Given the description of an element on the screen output the (x, y) to click on. 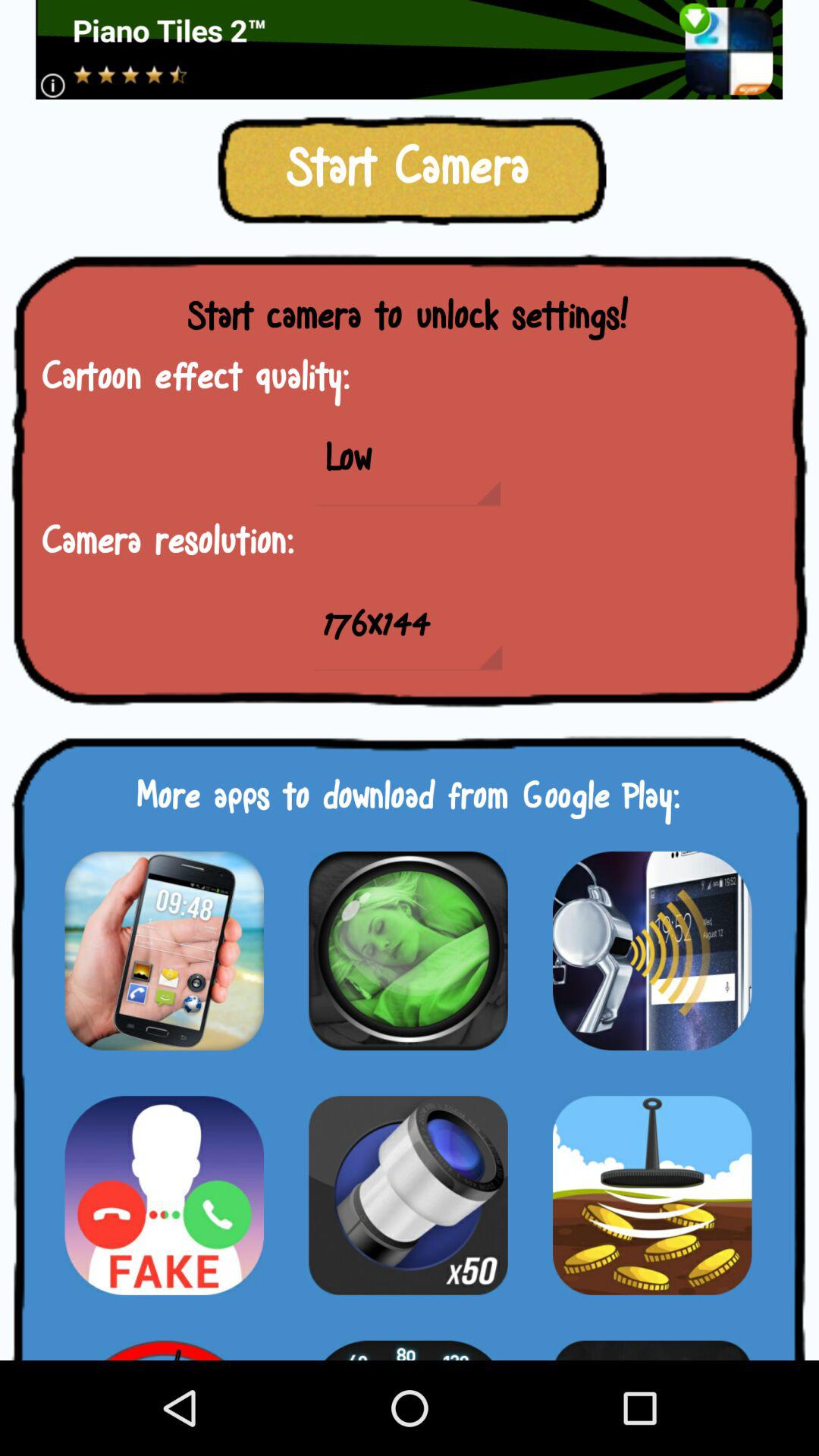
app option (652, 1340)
